Given the description of an element on the screen output the (x, y) to click on. 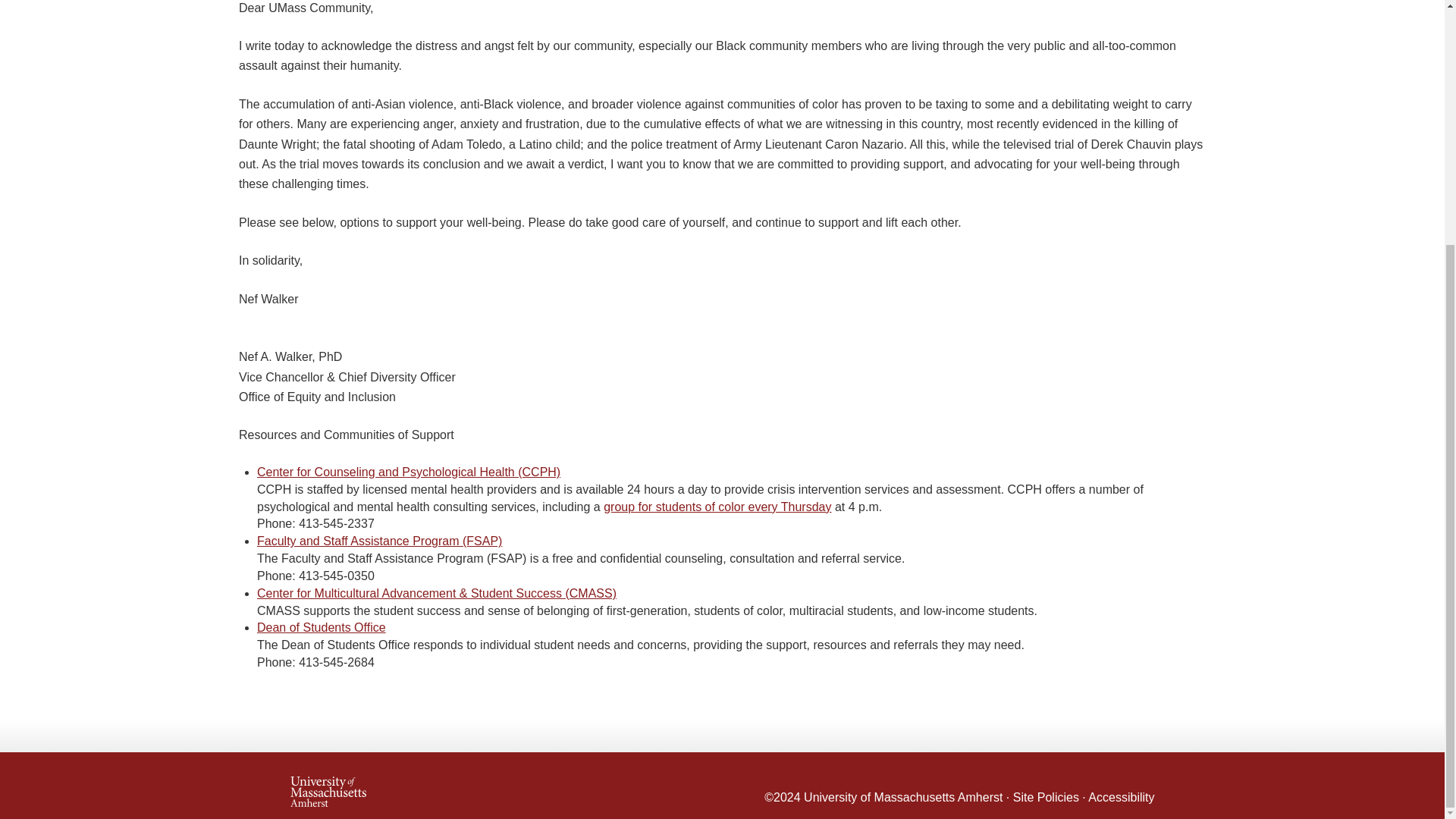
Dean of Students Office (321, 626)
University of Massachusetts Amherst (903, 797)
Site Policies (1045, 797)
Accessibility (1120, 797)
University of Massachusetts Amherst (505, 785)
group for students of color every Thursday (717, 506)
